Given the description of an element on the screen output the (x, y) to click on. 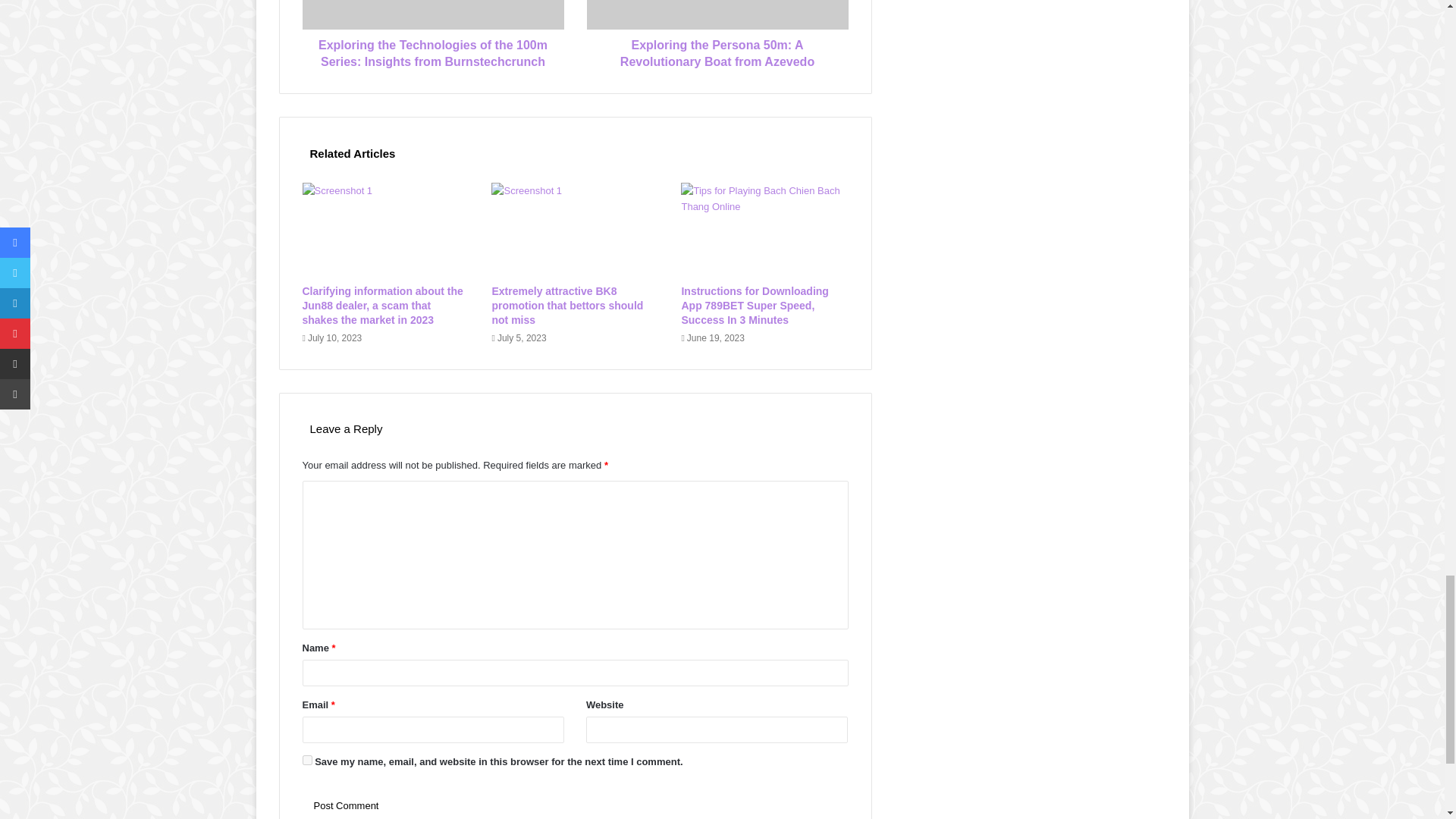
yes (306, 759)
Post Comment (345, 805)
